Given the description of an element on the screen output the (x, y) to click on. 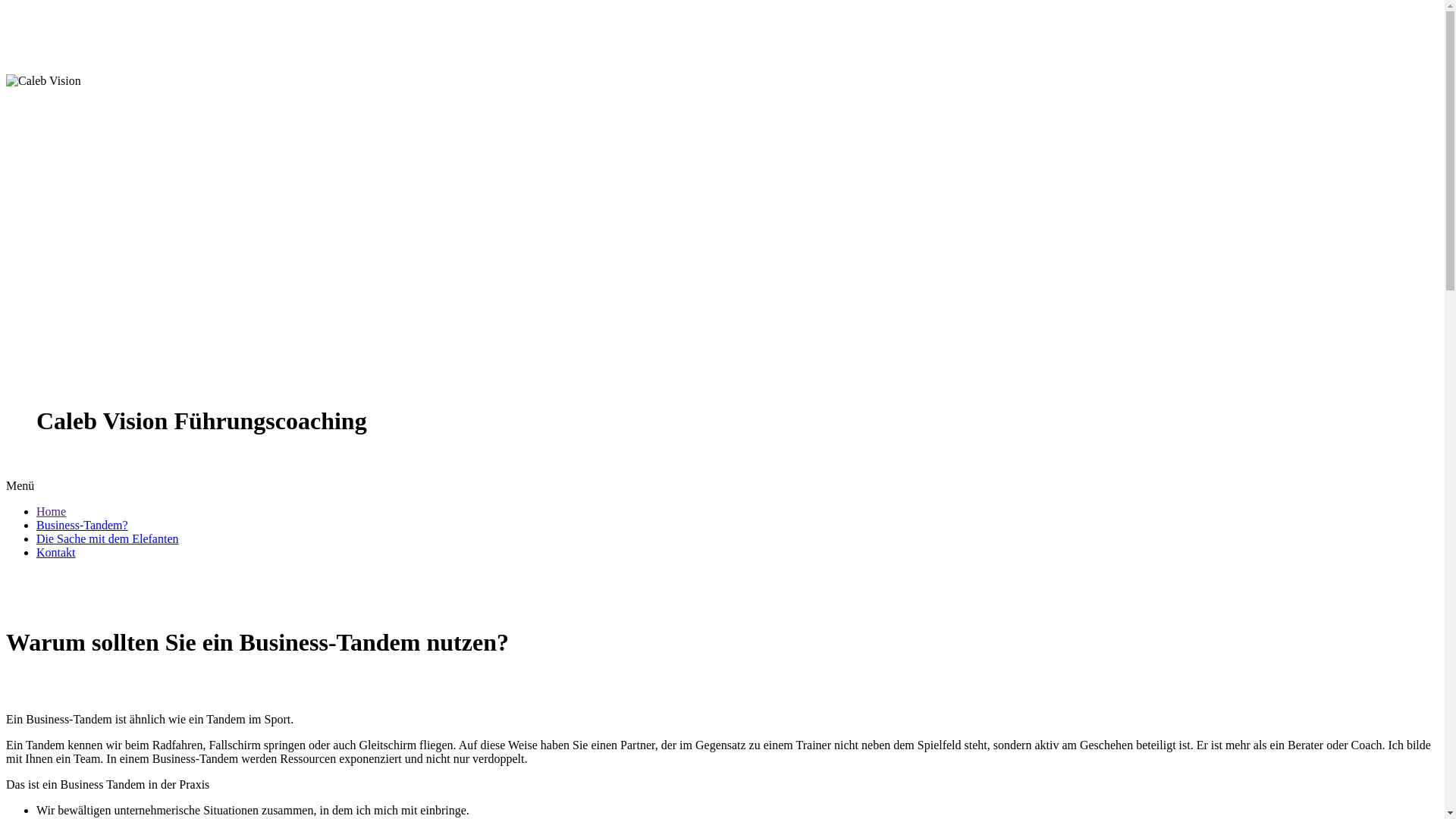
Kontakt Element type: text (55, 552)
Caleb Vision Ihr Business Tandem Element type: hover (43, 80)
Business-Tandem? Element type: text (82, 524)
Home Element type: text (50, 511)
Die Sache mit dem Elefanten Element type: text (107, 538)
